Given the description of an element on the screen output the (x, y) to click on. 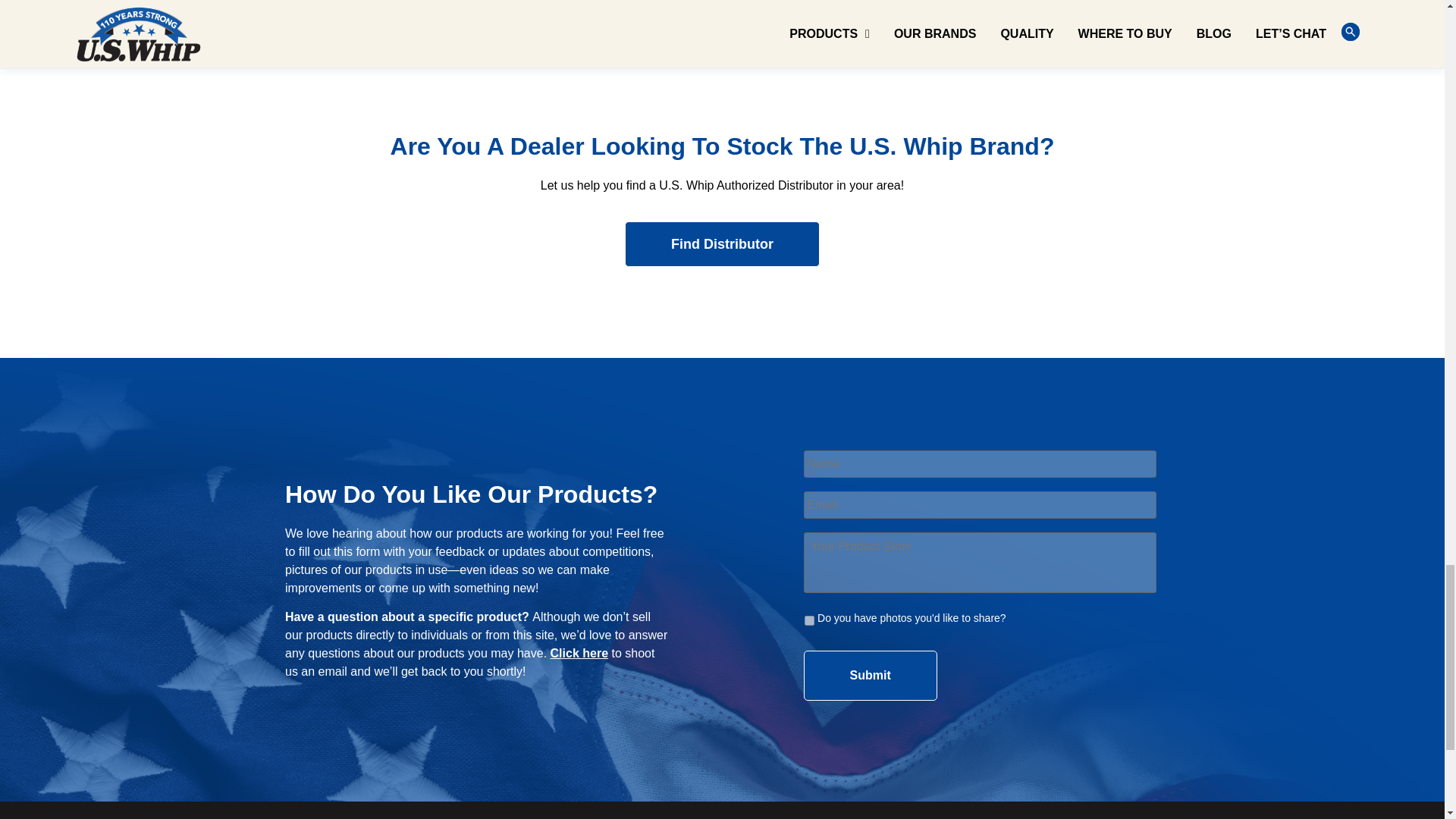
Do you have photos you'd like to share? (809, 620)
Submit (870, 675)
